Given the description of an element on the screen output the (x, y) to click on. 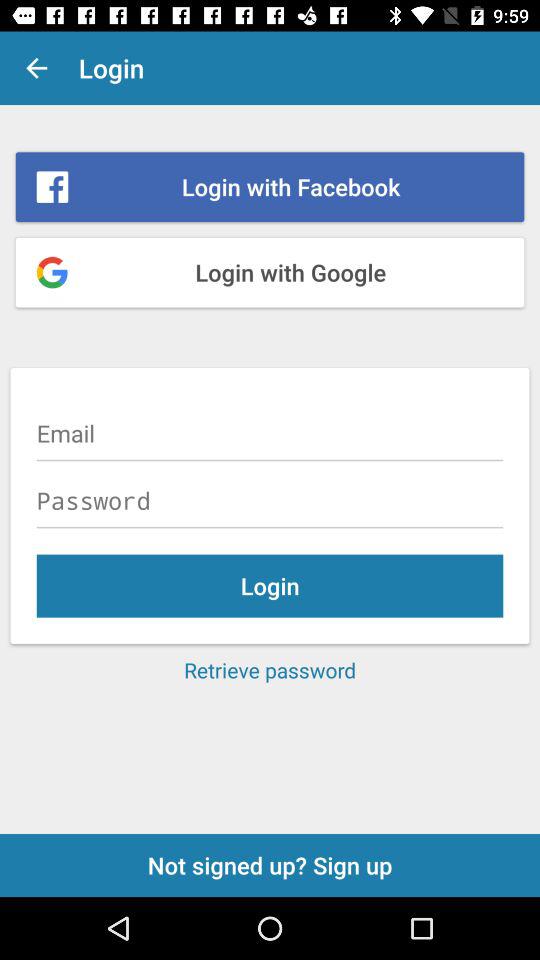
swipe until the not signed up item (270, 864)
